Given the description of an element on the screen output the (x, y) to click on. 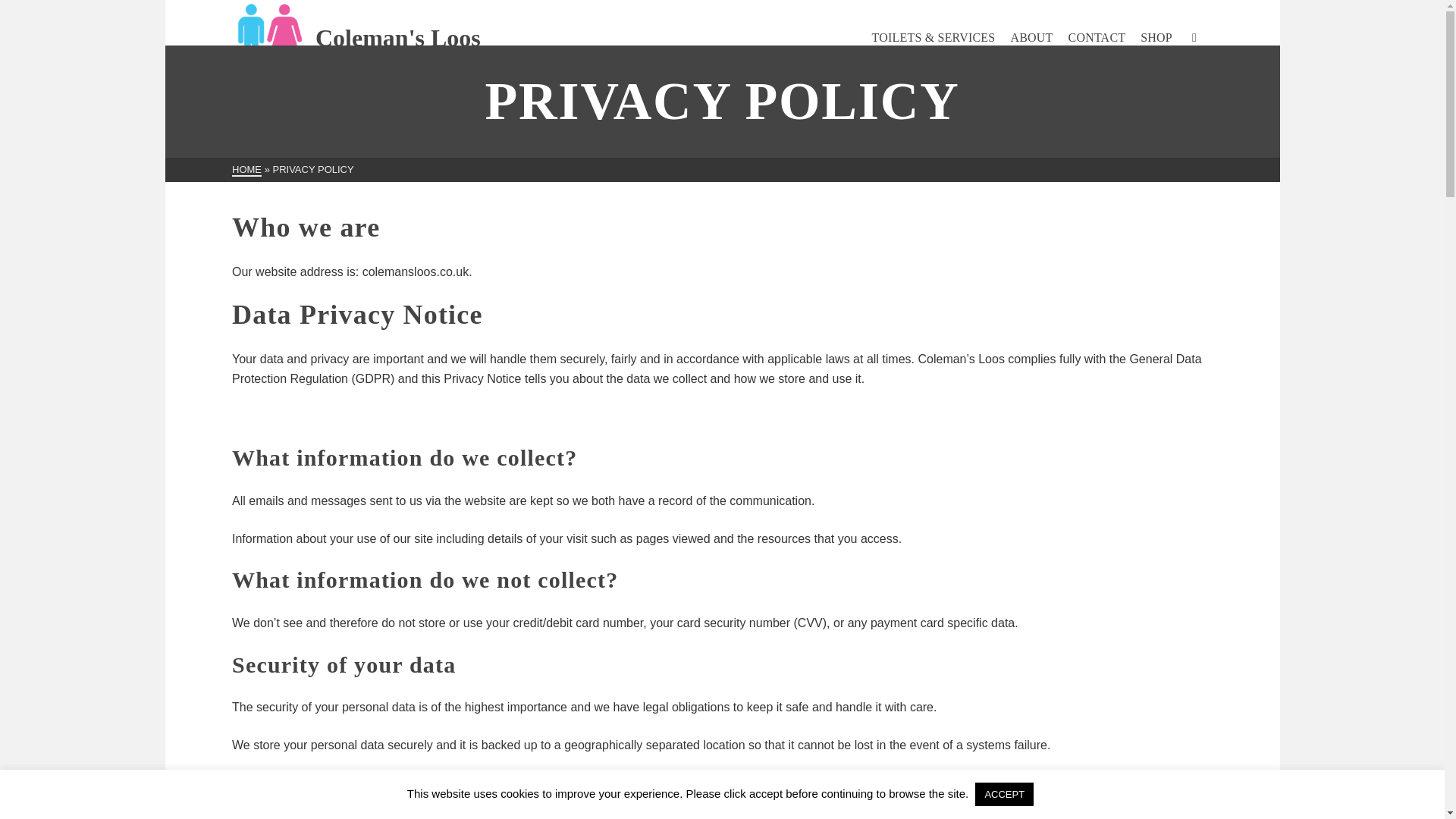
HOME (246, 169)
ACCEPT (1004, 793)
ABOUT (1031, 37)
Coleman's Loos (355, 38)
SHOP (1155, 37)
CONTACT (1097, 37)
